Given the description of an element on the screen output the (x, y) to click on. 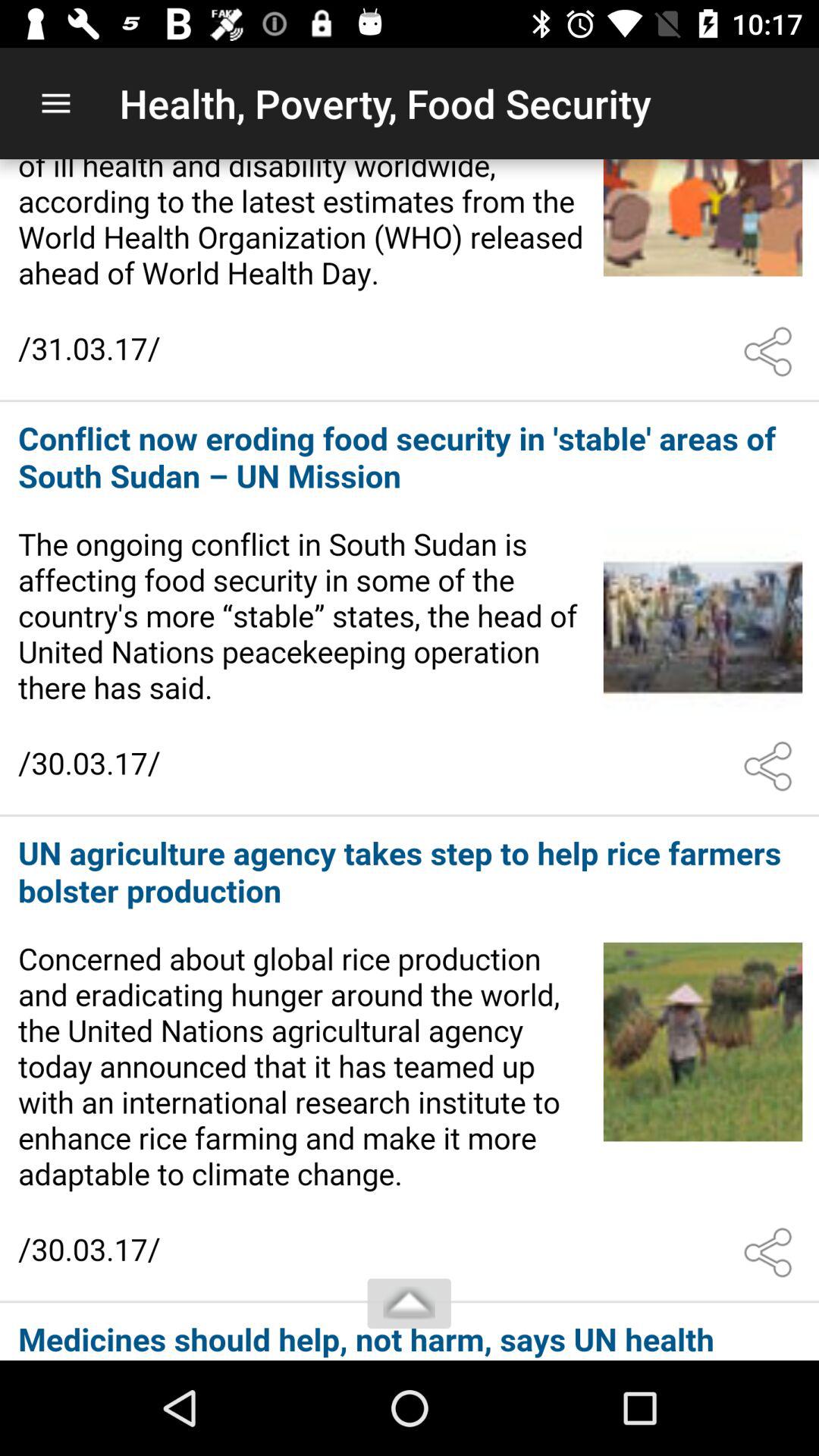
connect to advertisement (409, 1332)
